Given the description of an element on the screen output the (x, y) to click on. 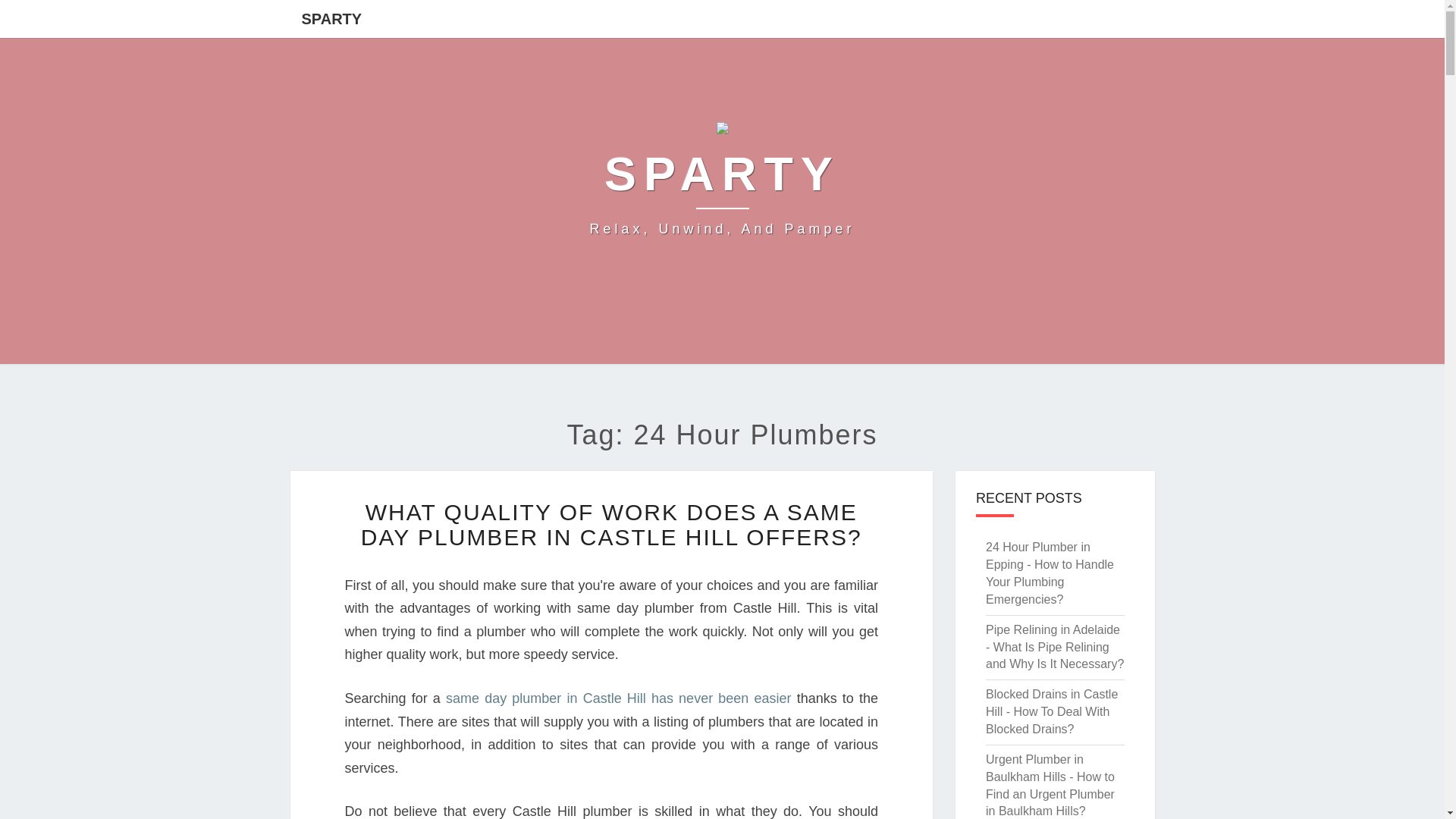
Sparty (721, 183)
SPARTY (330, 18)
same day plumber in Castle Hill has never been easier (721, 183)
